Given the description of an element on the screen output the (x, y) to click on. 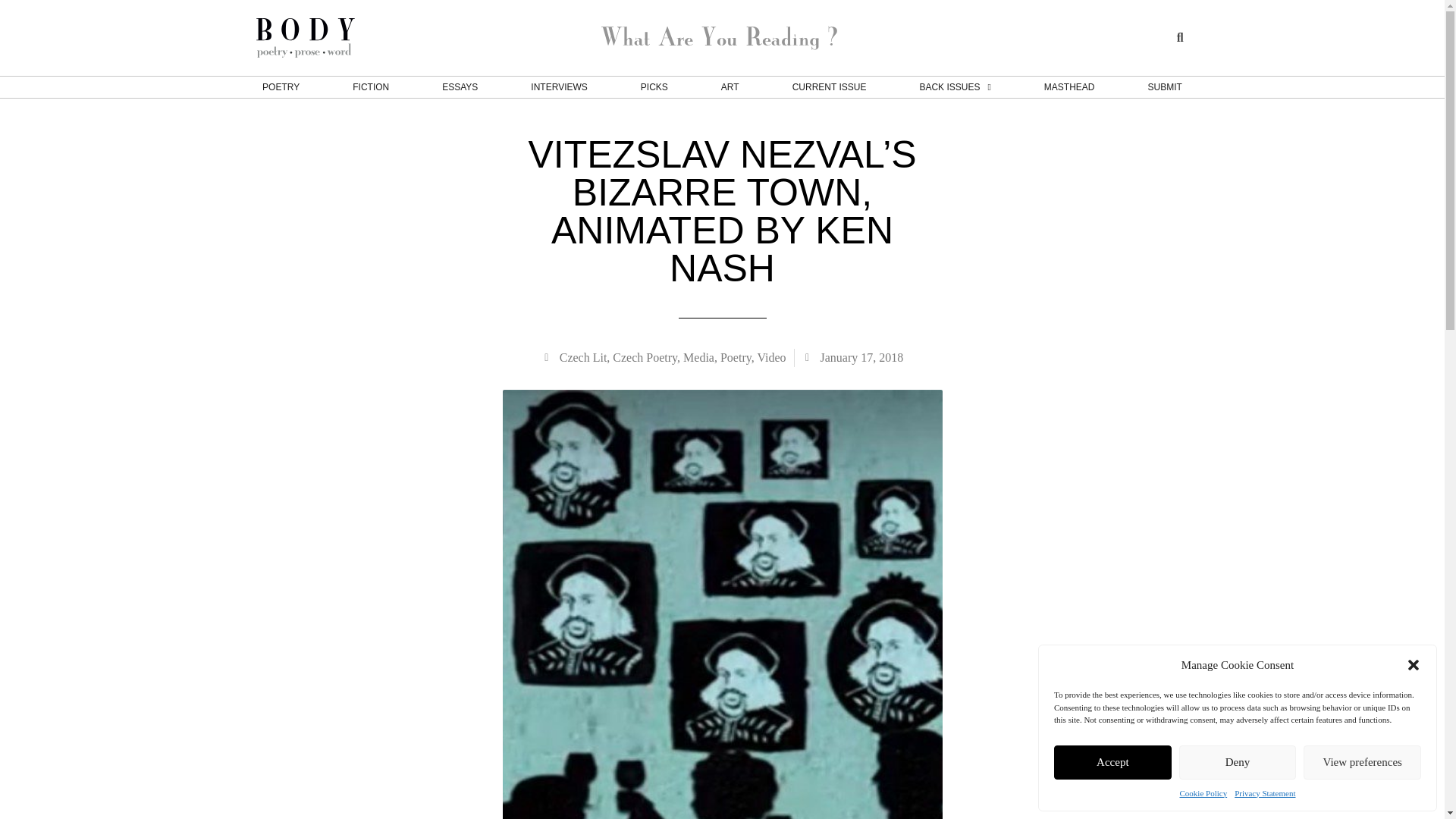
FICTION (370, 86)
View preferences (1362, 761)
MASTHEAD (1069, 86)
ART (730, 86)
POETRY (280, 86)
Accept (1113, 761)
ESSAYS (459, 86)
Deny (1238, 761)
Cookie Policy (1203, 793)
BACK ISSUES (955, 86)
INTERVIEWS (558, 86)
Privacy Statement (1264, 793)
SUBMIT (1164, 86)
CURRENT ISSUE (829, 86)
PICKS (654, 86)
